Given the description of an element on the screen output the (x, y) to click on. 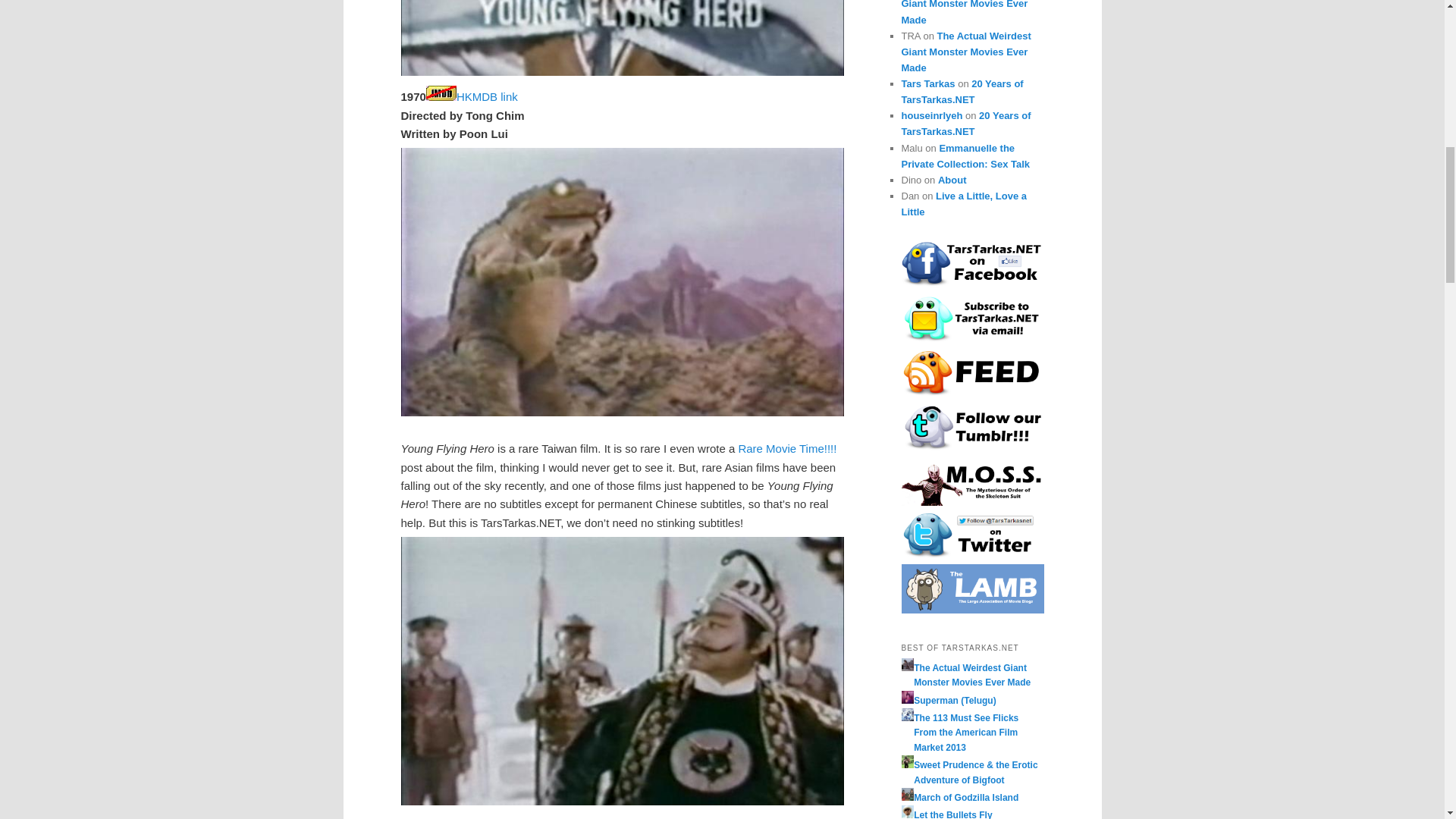
Rare Movie Time!!!! (786, 448)
HKMDB link (487, 96)
